Given the description of an element on the screen output the (x, y) to click on. 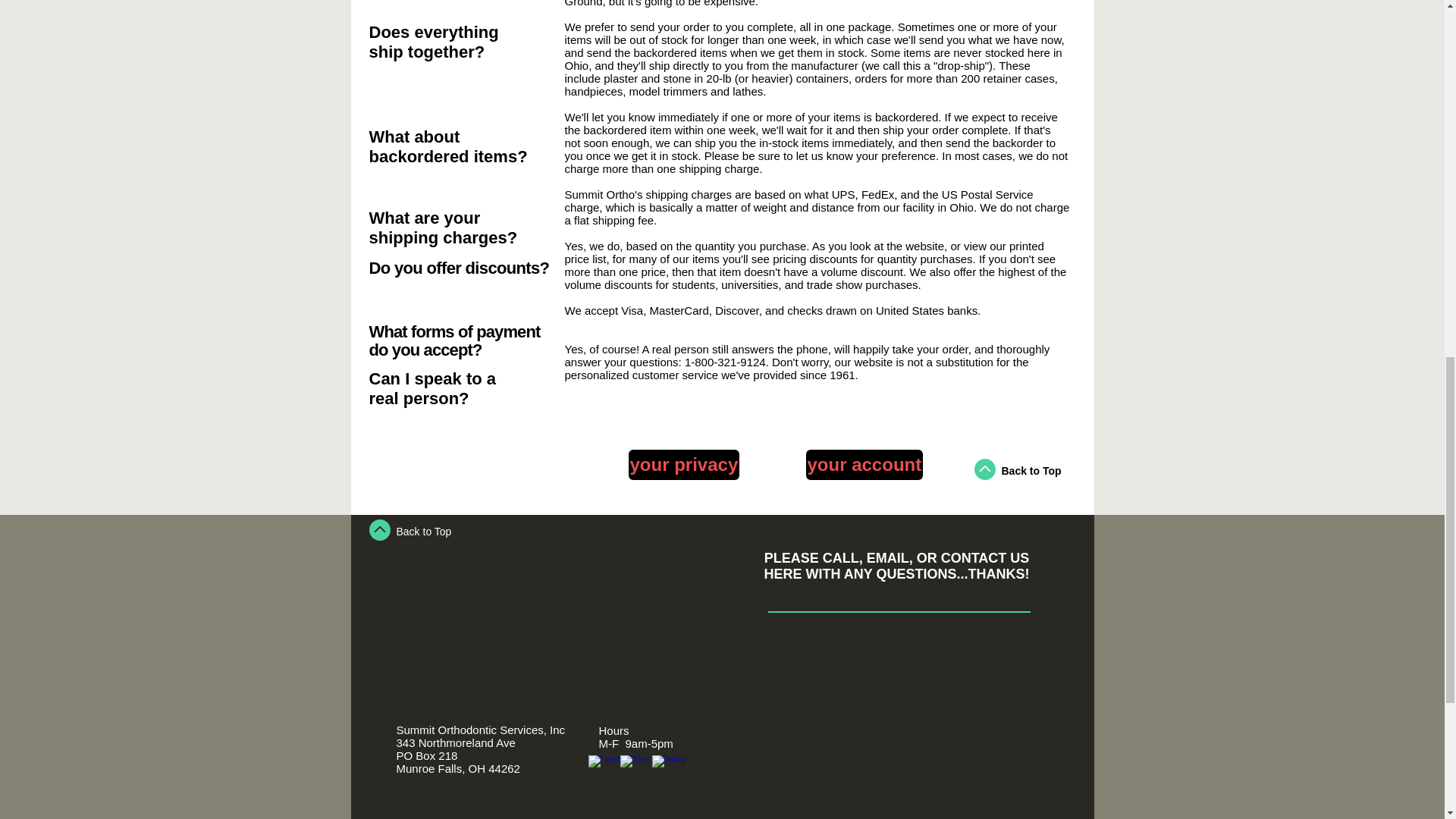
Back to Top (423, 531)
Back to Top (1031, 470)
your account (864, 464)
your privacy (683, 464)
